Given the description of an element on the screen output the (x, y) to click on. 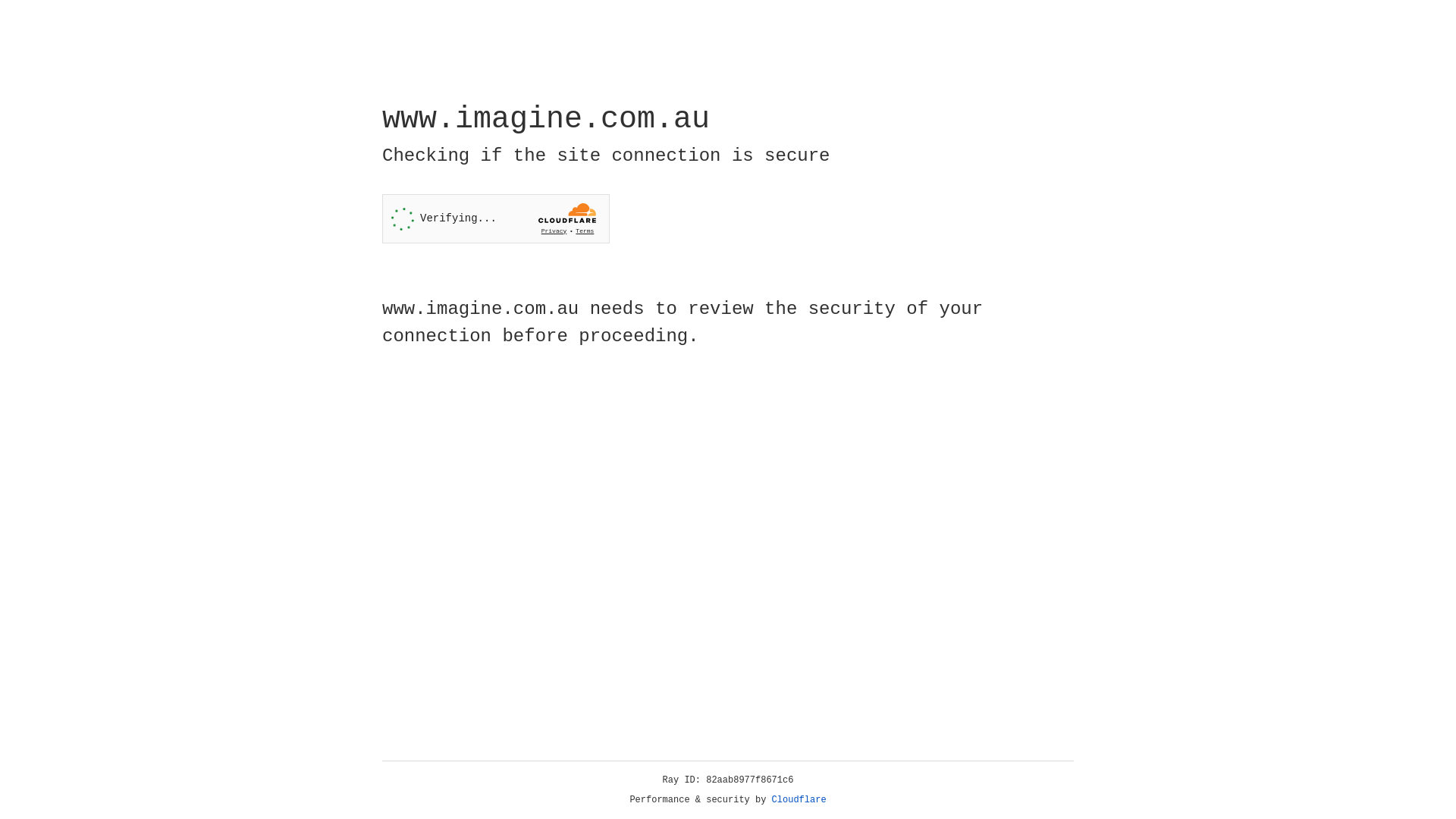
Cloudflare Element type: text (798, 799)
Widget containing a Cloudflare security challenge Element type: hover (495, 218)
